Given the description of an element on the screen output the (x, y) to click on. 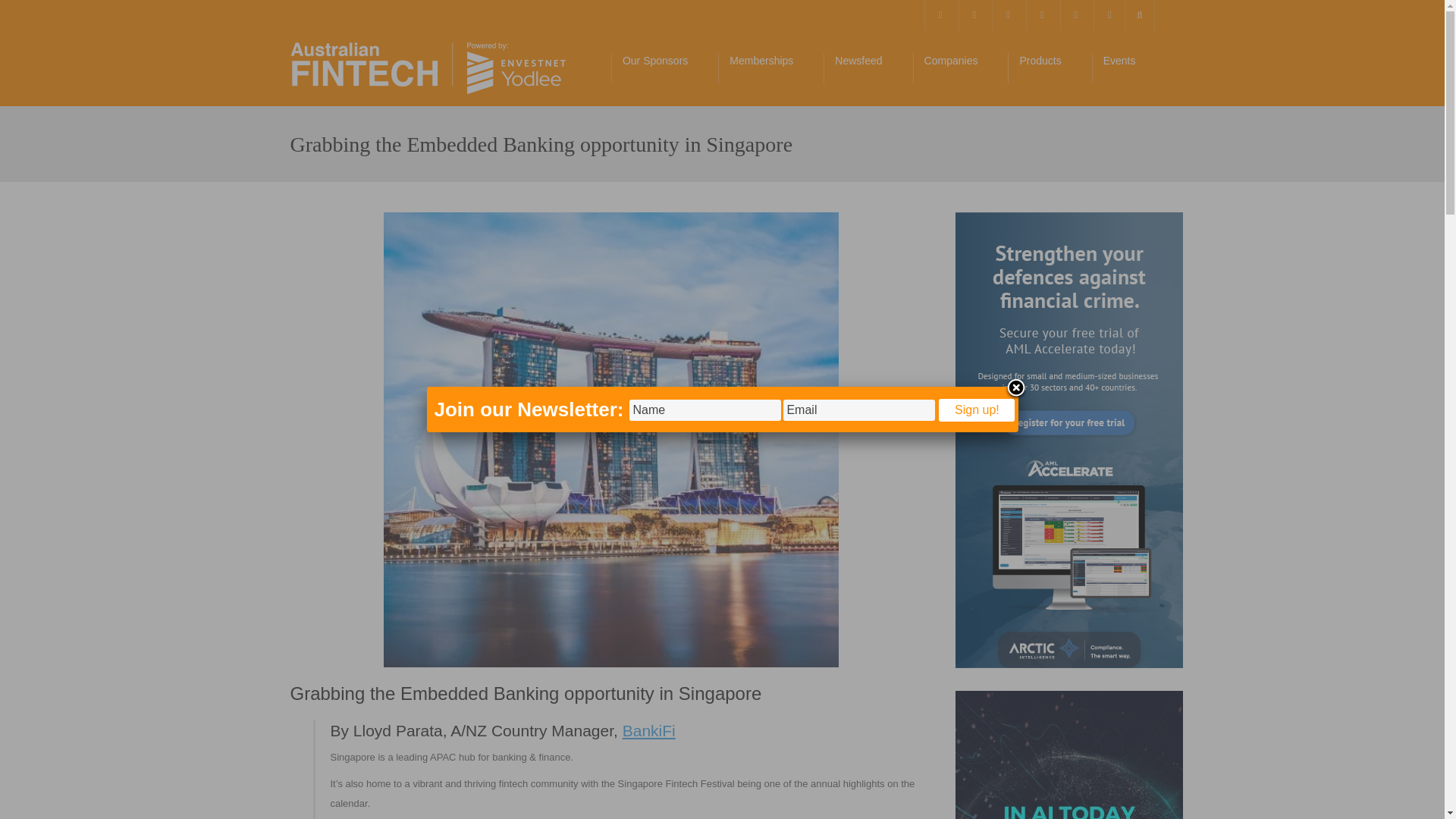
Events (1129, 68)
BankiFi (649, 730)
Products (1048, 68)
Close (1015, 388)
Newsfeed (868, 68)
Our Sponsors (664, 68)
Memberships (770, 68)
Sign up! (976, 409)
Companies (960, 68)
